Given the description of an element on the screen output the (x, y) to click on. 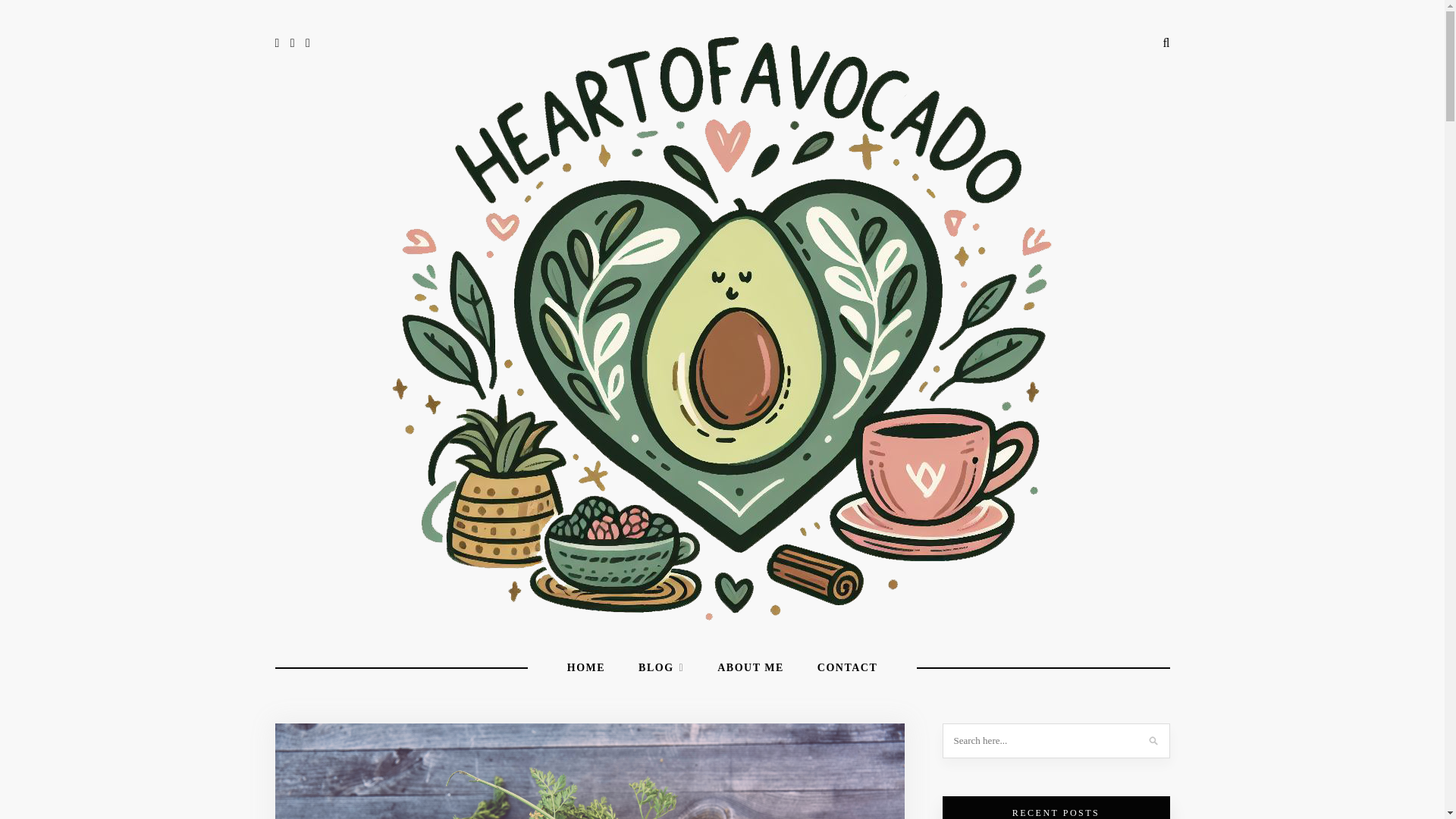
BLOG (661, 667)
CONTACT (846, 667)
ABOUT ME (750, 667)
HOME (586, 667)
